Given the description of an element on the screen output the (x, y) to click on. 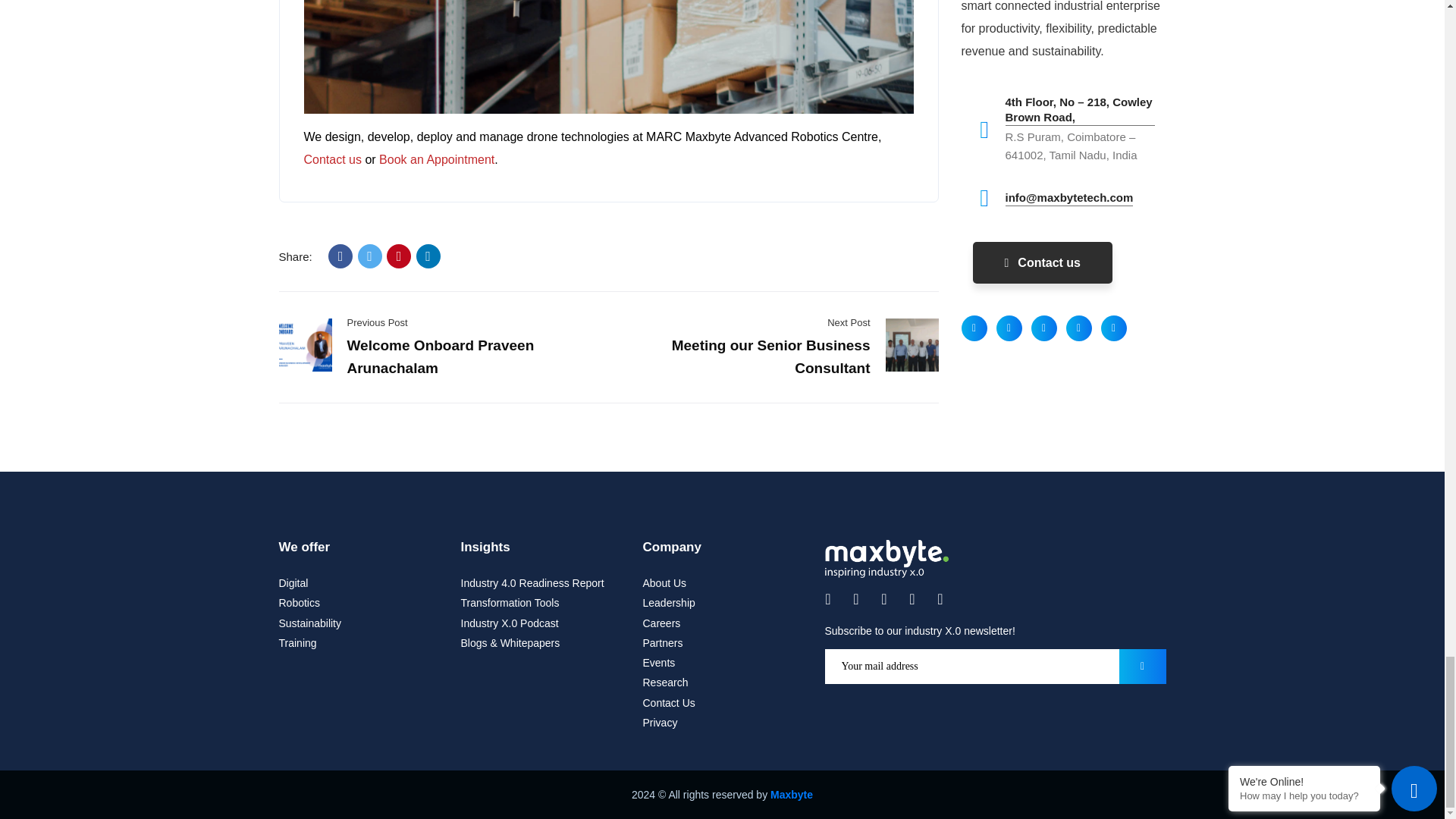
LinkedIn (428, 256)
Twitter (369, 256)
Pinterest (398, 256)
Facebook (340, 256)
